Given the description of an element on the screen output the (x, y) to click on. 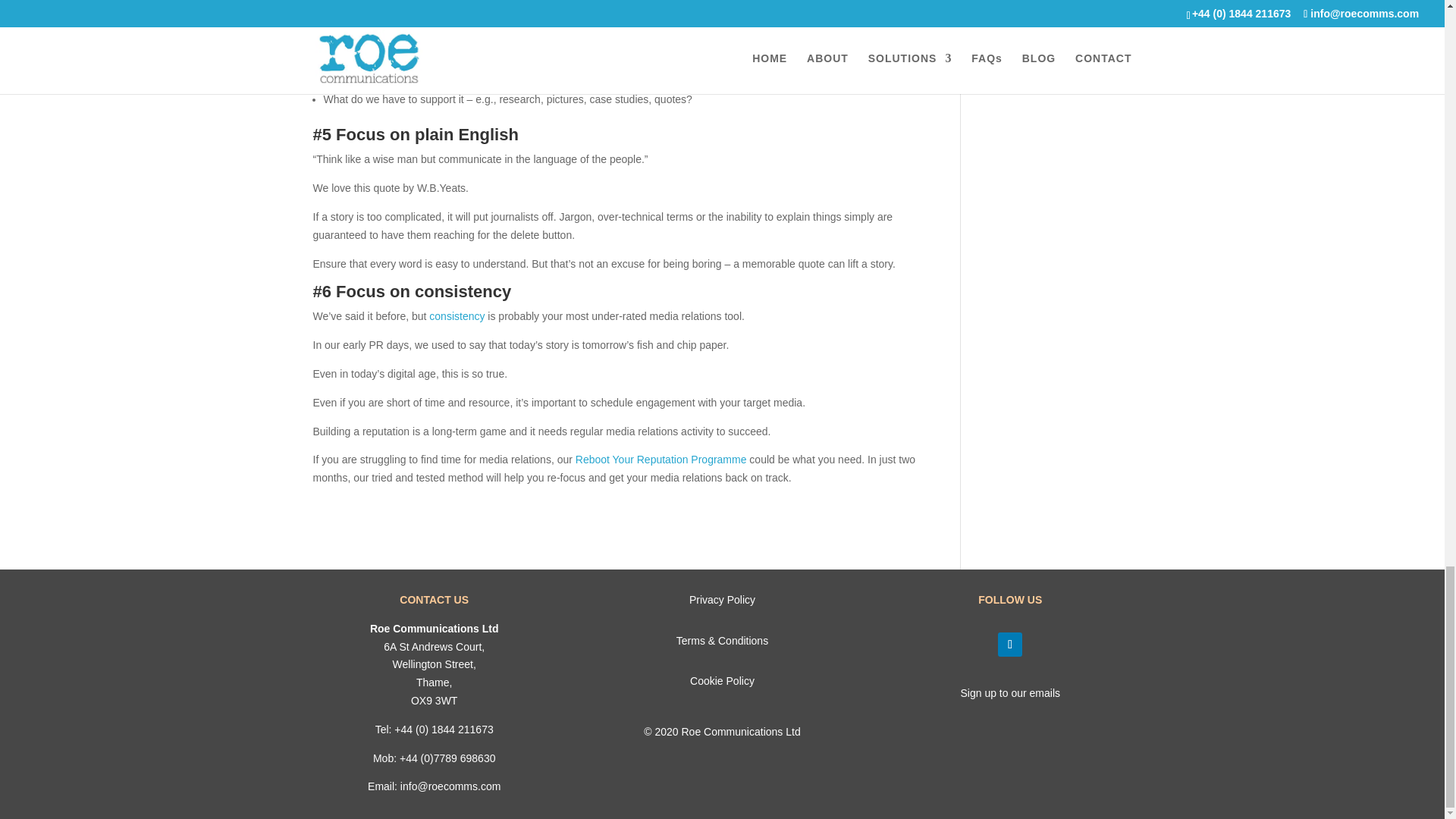
Reboot Your Reputation Programme (660, 459)
Follow on LinkedIn (1009, 644)
plain English (466, 134)
consistency (456, 316)
